Given the description of an element on the screen output the (x, y) to click on. 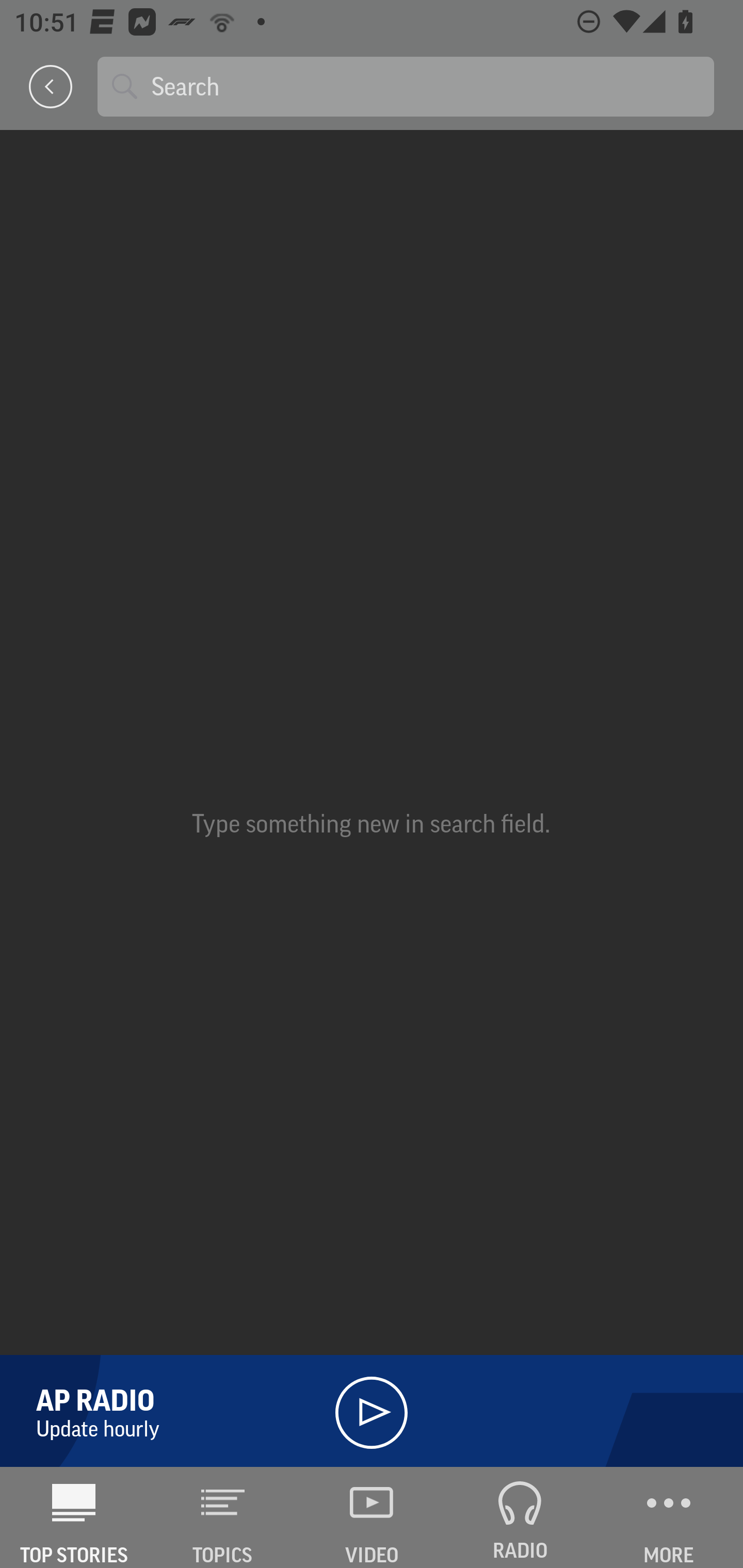
Search (425, 86)
AP RADIO Update hourly (371, 1409)
AP News TOP STORIES (74, 1517)
TOPICS (222, 1517)
VIDEO (371, 1517)
RADIO (519, 1517)
MORE (668, 1517)
